Given the description of an element on the screen output the (x, y) to click on. 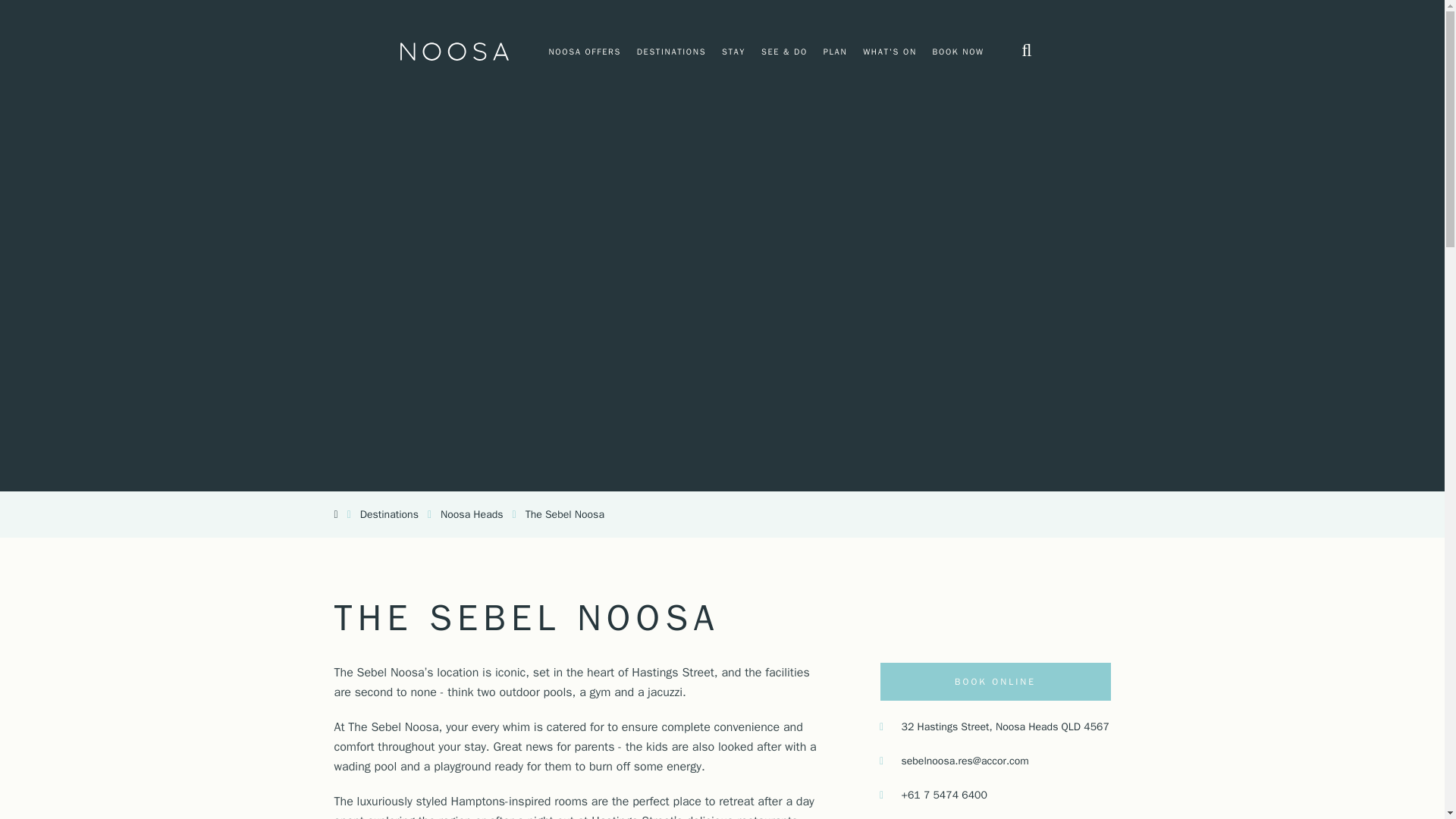
DESTINATIONS (671, 50)
STAY (733, 50)
PLAN (835, 50)
BOOK NOW (958, 50)
NOOSA OFFERS (584, 50)
WHAT'S ON (890, 50)
